Given the description of an element on the screen output the (x, y) to click on. 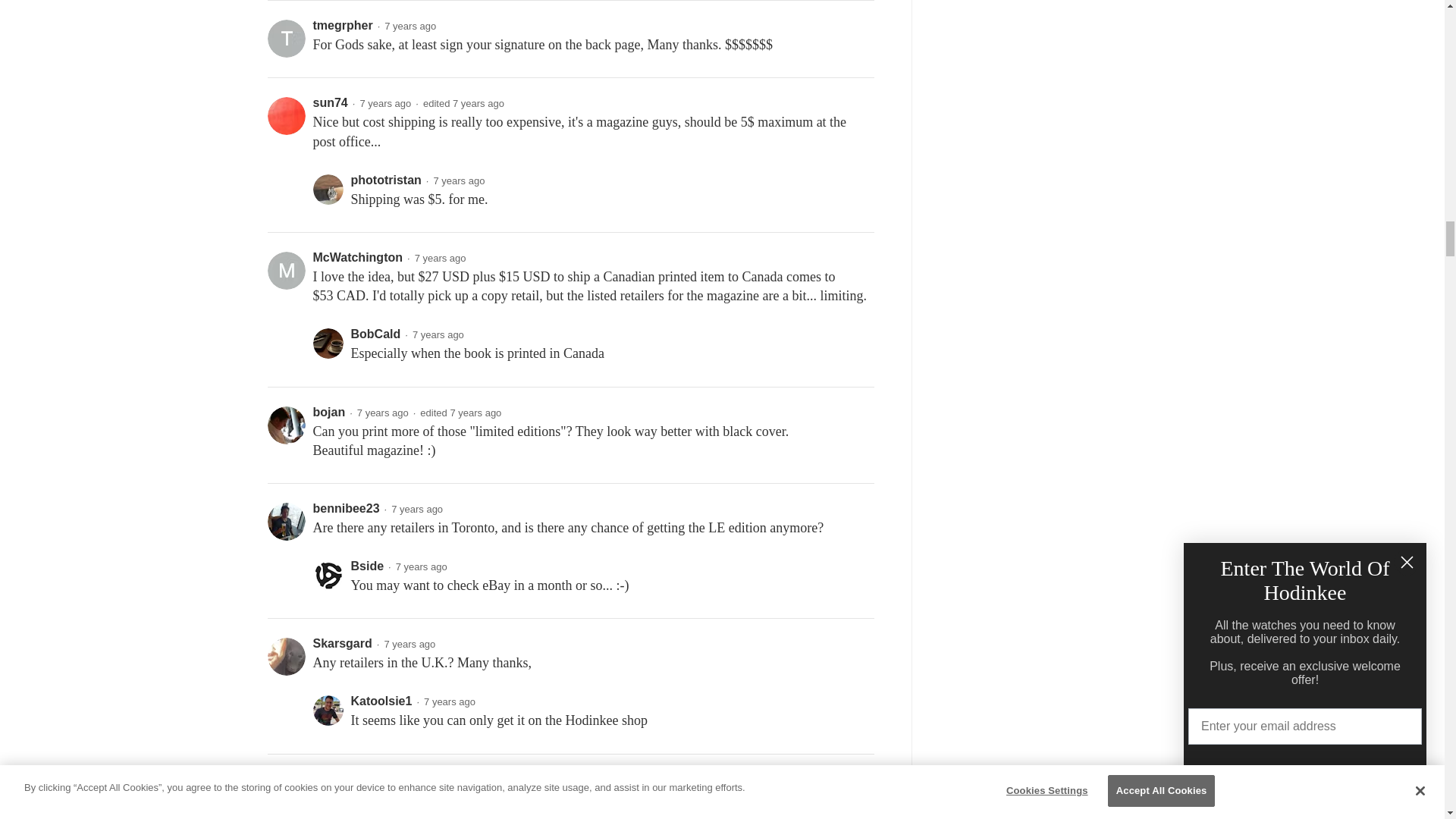
2017-09-08 04:53 (416, 509)
2017-09-10 21:18 (438, 334)
2017-09-09 23:40 (439, 257)
2017-09-07 22:18 (409, 644)
2017-09-23 21:59 (458, 180)
2017-09-08 21:40 (421, 566)
2017-09-08 10:48 (474, 412)
2017-09-08 10:46 (382, 412)
2017-09-10 08:26 (477, 102)
2017-09-10 08:25 (384, 102)
2017-09-10 17:39 (409, 25)
